Given the description of an element on the screen output the (x, y) to click on. 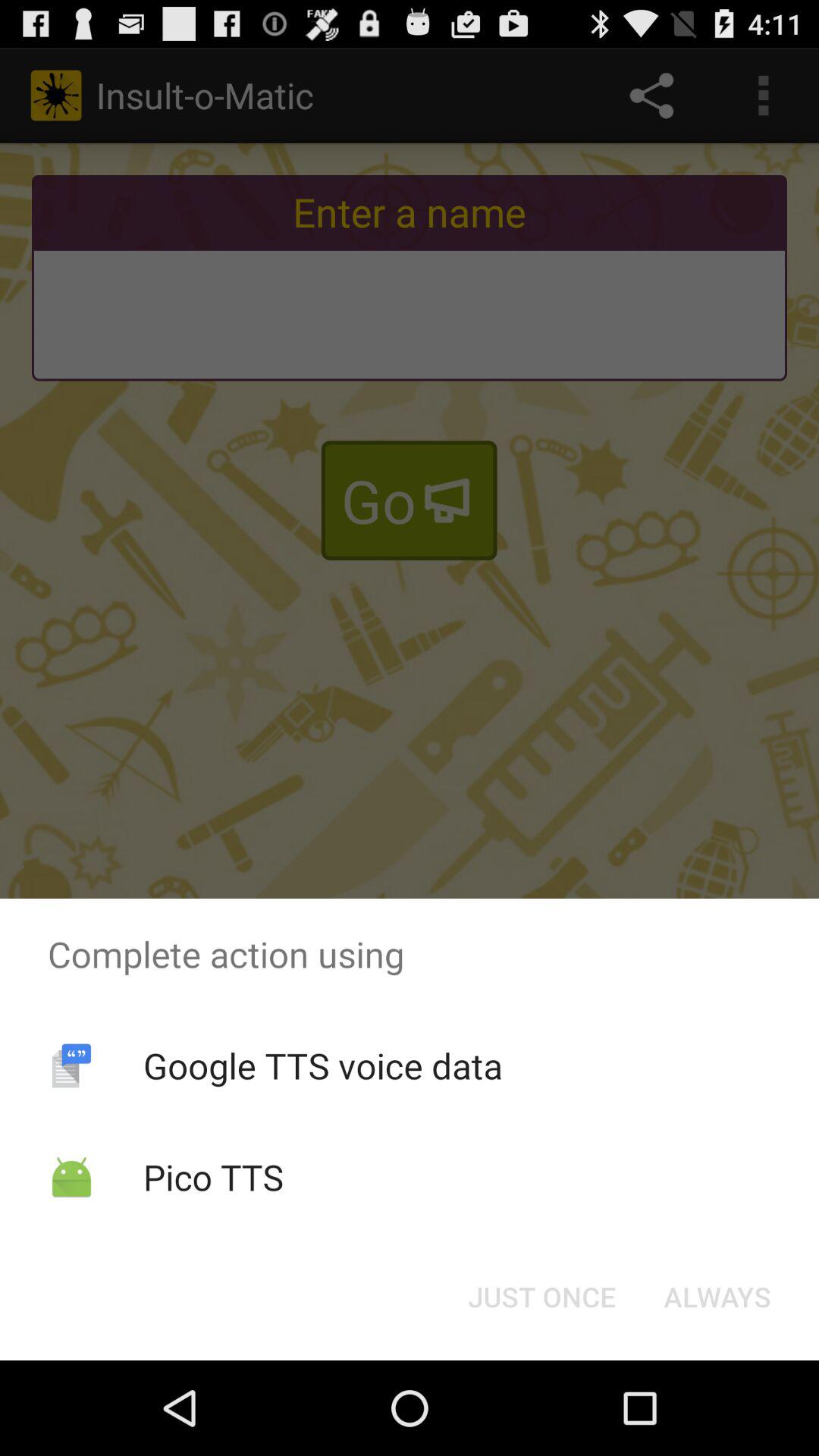
choose google tts voice (322, 1065)
